Given the description of an element on the screen output the (x, y) to click on. 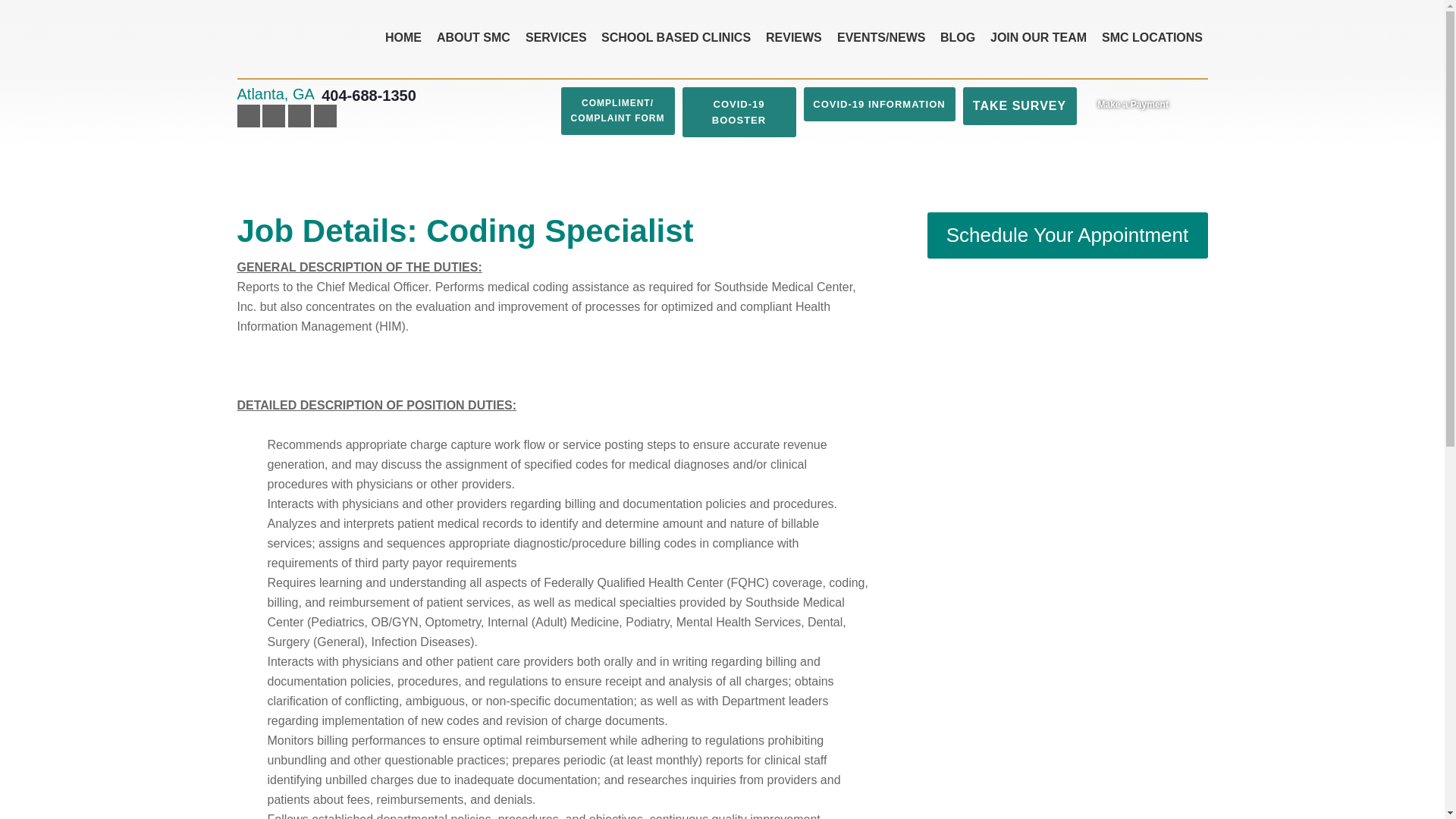
SMC LOCATIONS (1151, 37)
ABOUT SMC (473, 37)
REVIEWS (793, 37)
JOIN OUR TEAM (1038, 37)
HOME (403, 37)
BLOG (957, 37)
SERVICES (556, 37)
SCHOOL BASED CLINICS (676, 37)
